Given the description of an element on the screen output the (x, y) to click on. 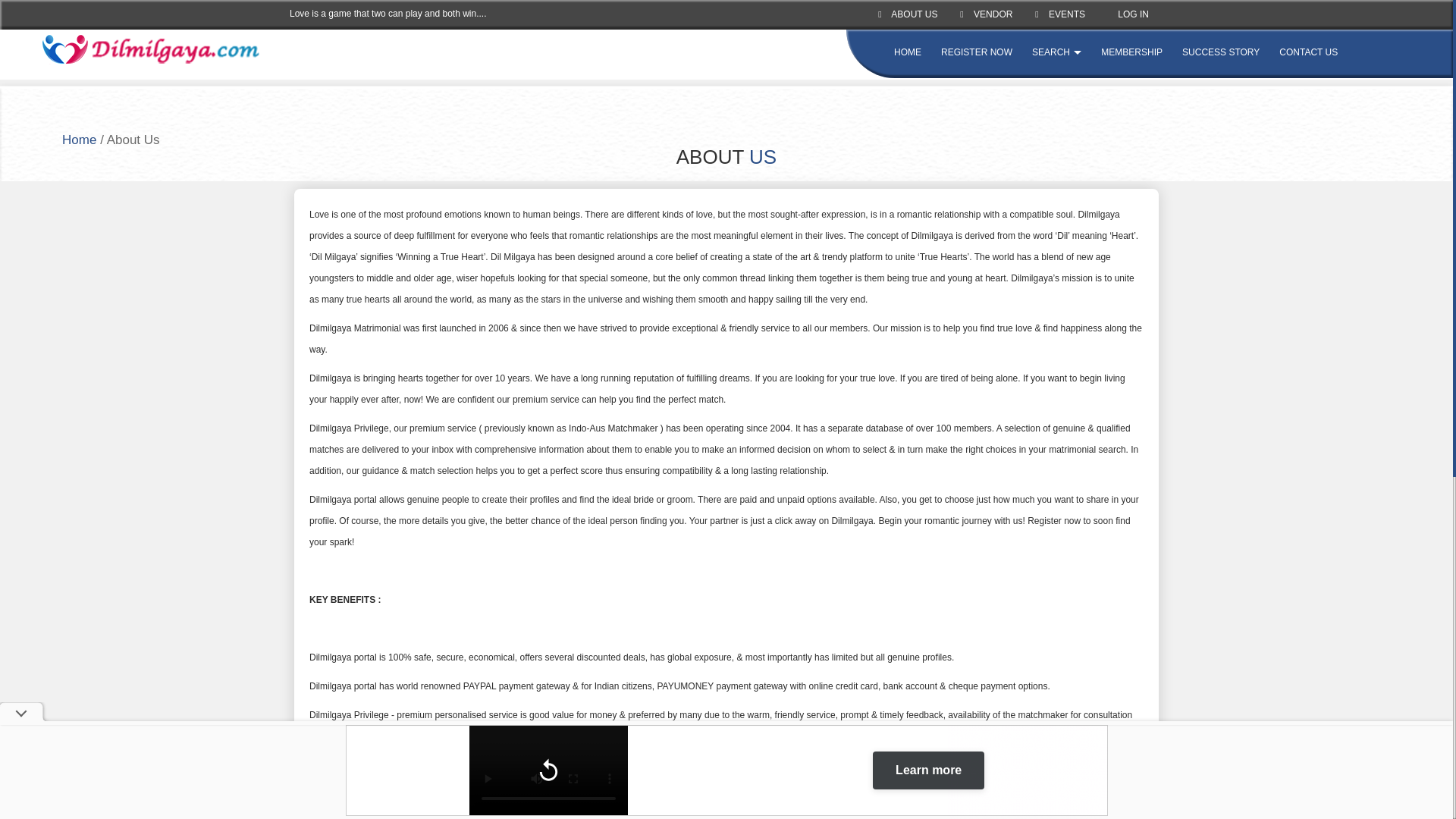
MEMBERSHIP (1130, 52)
Advertisement (727, 771)
SEARCH  (1056, 52)
VENDOR (985, 14)
CONTACT US (1308, 52)
SUCCESS STORY (1220, 52)
ABOUT US (907, 14)
EVENTS (1059, 14)
REGISTER NOW (975, 52)
Home (79, 139)
LOG IN (1128, 14)
